Given the description of an element on the screen output the (x, y) to click on. 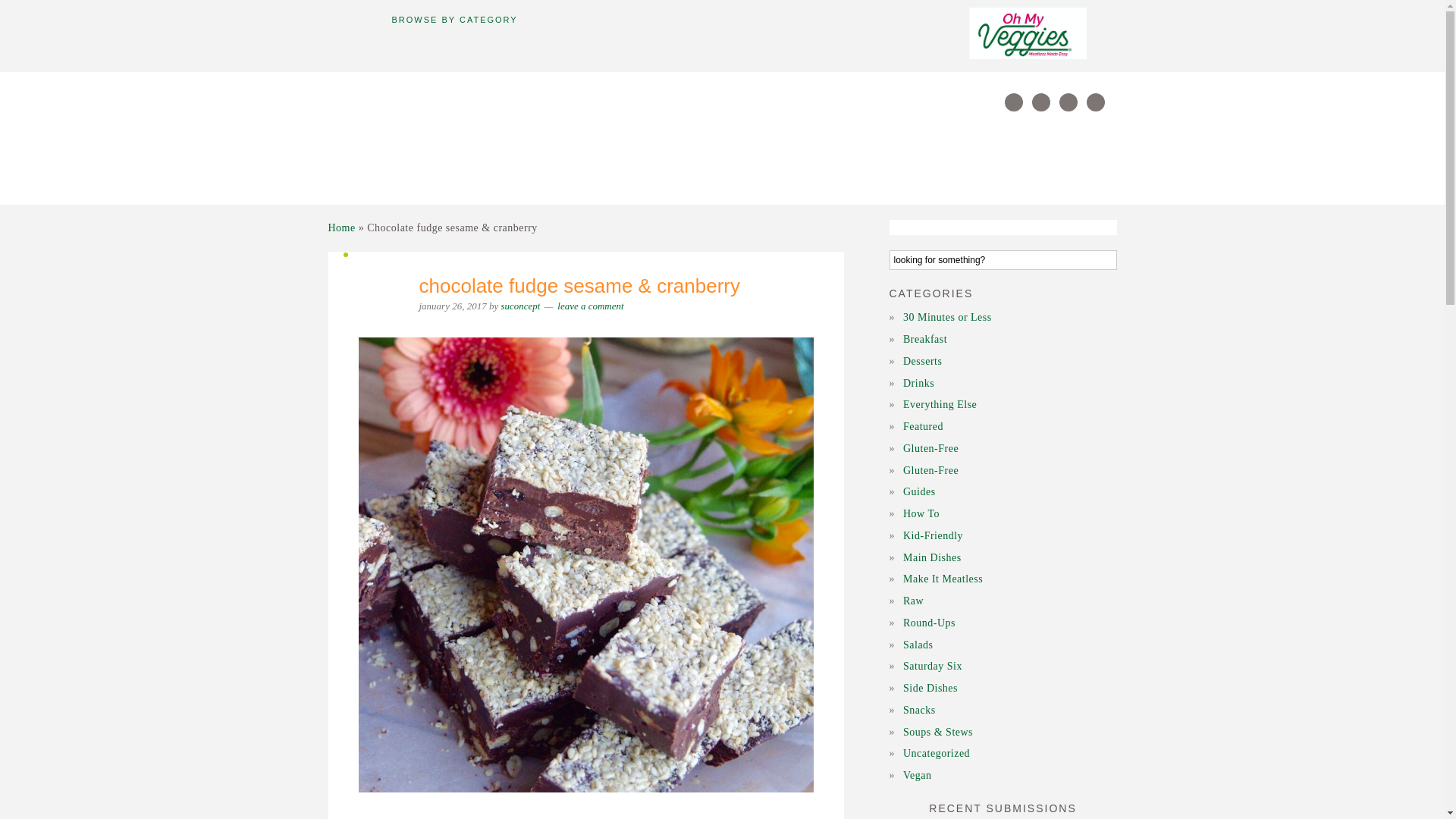
suconcept (520, 306)
leave a comment (590, 306)
BROWSE BY CATEGORY (453, 19)
Home (341, 226)
POTLUCK AT OH MY VEGGIES (463, 137)
